Given the description of an element on the screen output the (x, y) to click on. 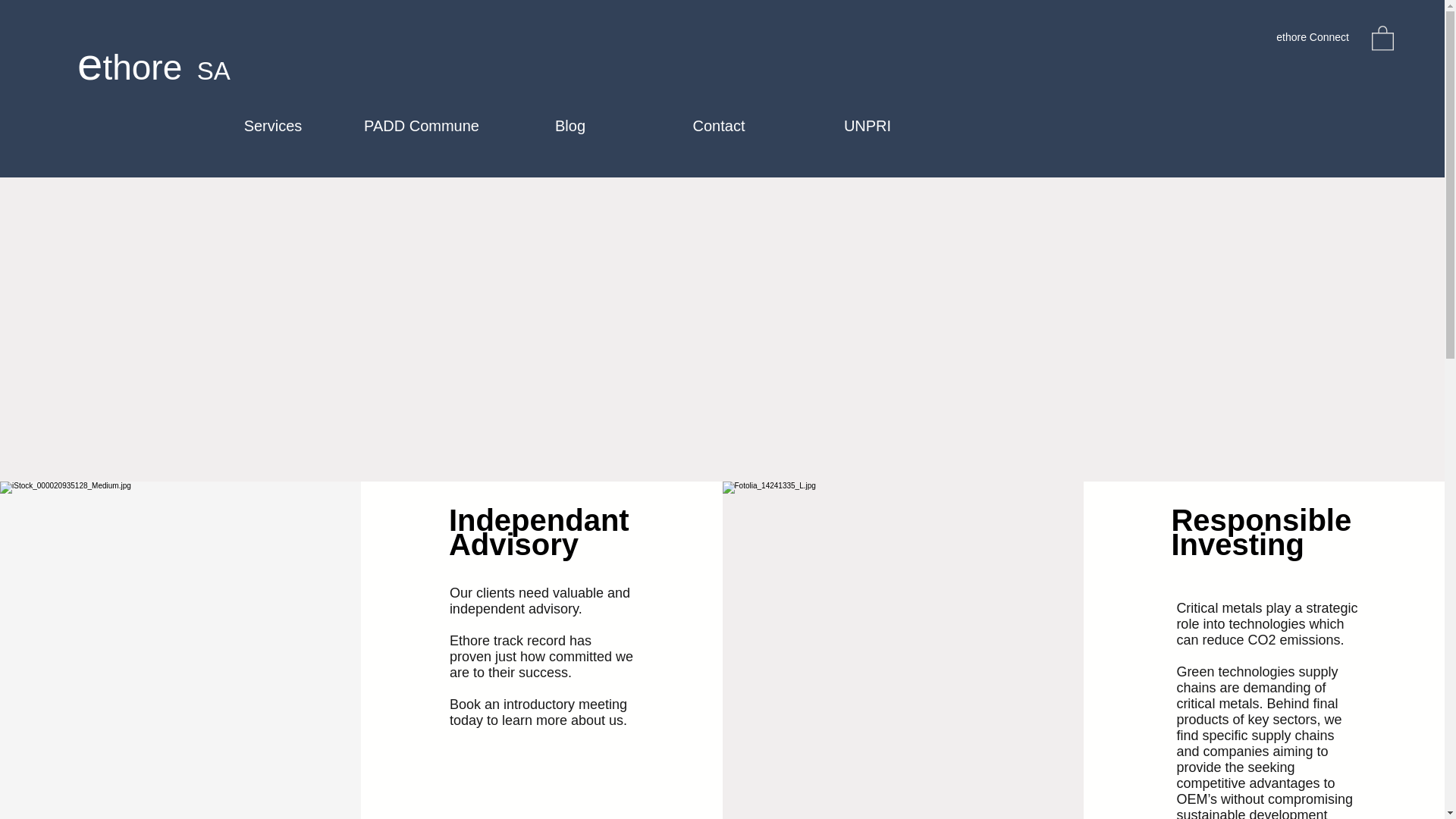
Contact (719, 126)
ethore SA (153, 60)
ethore Connect (1312, 37)
UNPRI (867, 126)
Blog (570, 126)
PADD Commune (421, 126)
Services (272, 126)
